Given the description of an element on the screen output the (x, y) to click on. 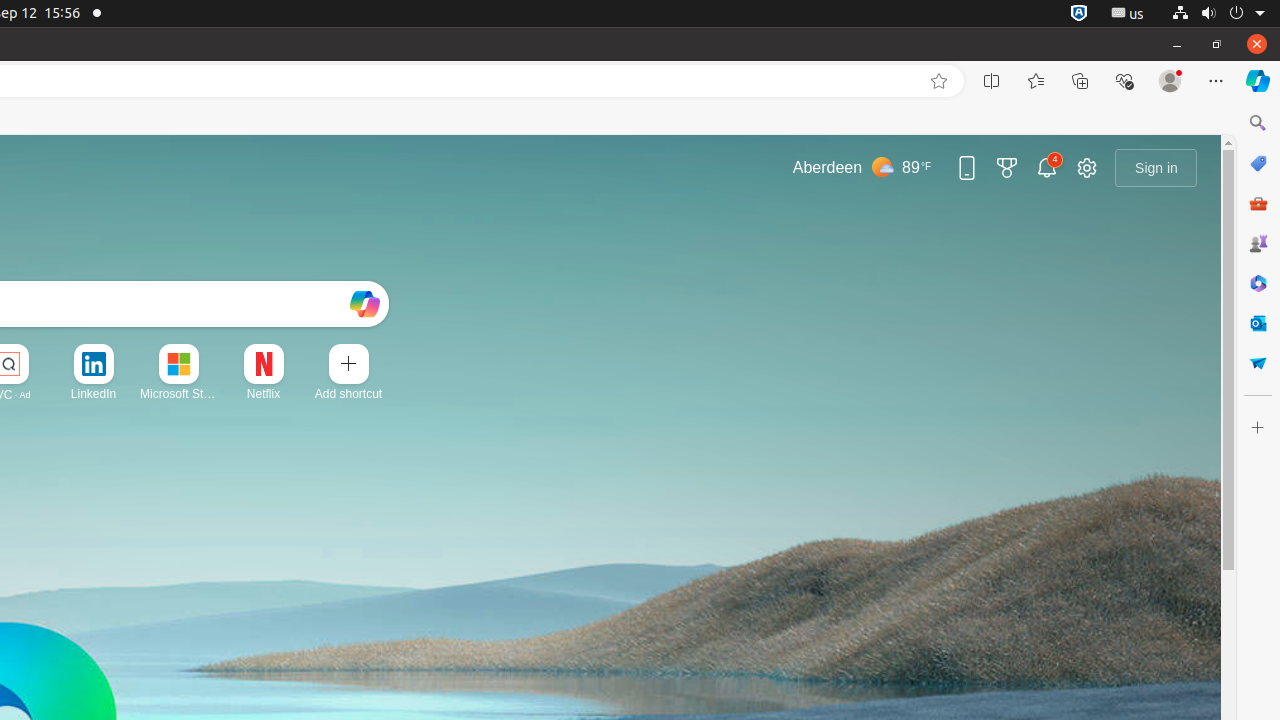
Drop Element type: push-button (1258, 363)
Aberdeen: Heat Severe, Mostly sunny, 89 °F Element type: link (861, 168)
Copilot (Ctrl+Shift+.) Element type: push-button (1258, 81)
System Element type: menu (1218, 13)
Favorites Element type: push-button (1036, 81)
